Given the description of an element on the screen output the (x, y) to click on. 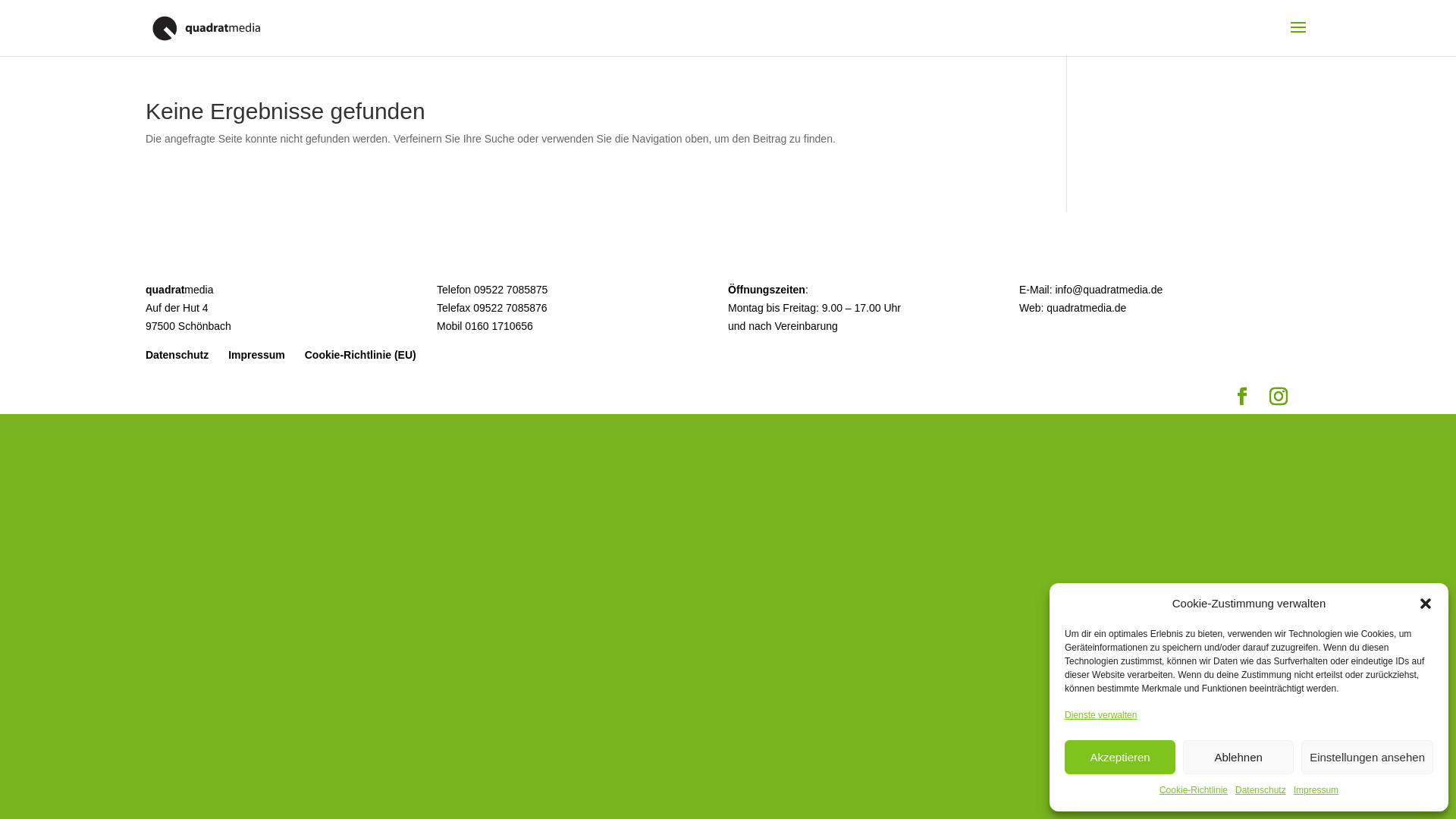
Cookie-Richtlinie Element type: text (1193, 790)
Impressum Element type: text (256, 354)
Einstellungen ansehen Element type: text (1367, 757)
Datenschutz Element type: text (1260, 790)
Akzeptieren Element type: text (1119, 757)
Ablehnen Element type: text (1238, 757)
Dienste verwalten Element type: text (1100, 715)
Cookie-Richtlinie (EU) Element type: text (360, 354)
Datenschutz Element type: text (176, 354)
Impressum Element type: text (1315, 790)
